Given the description of an element on the screen output the (x, y) to click on. 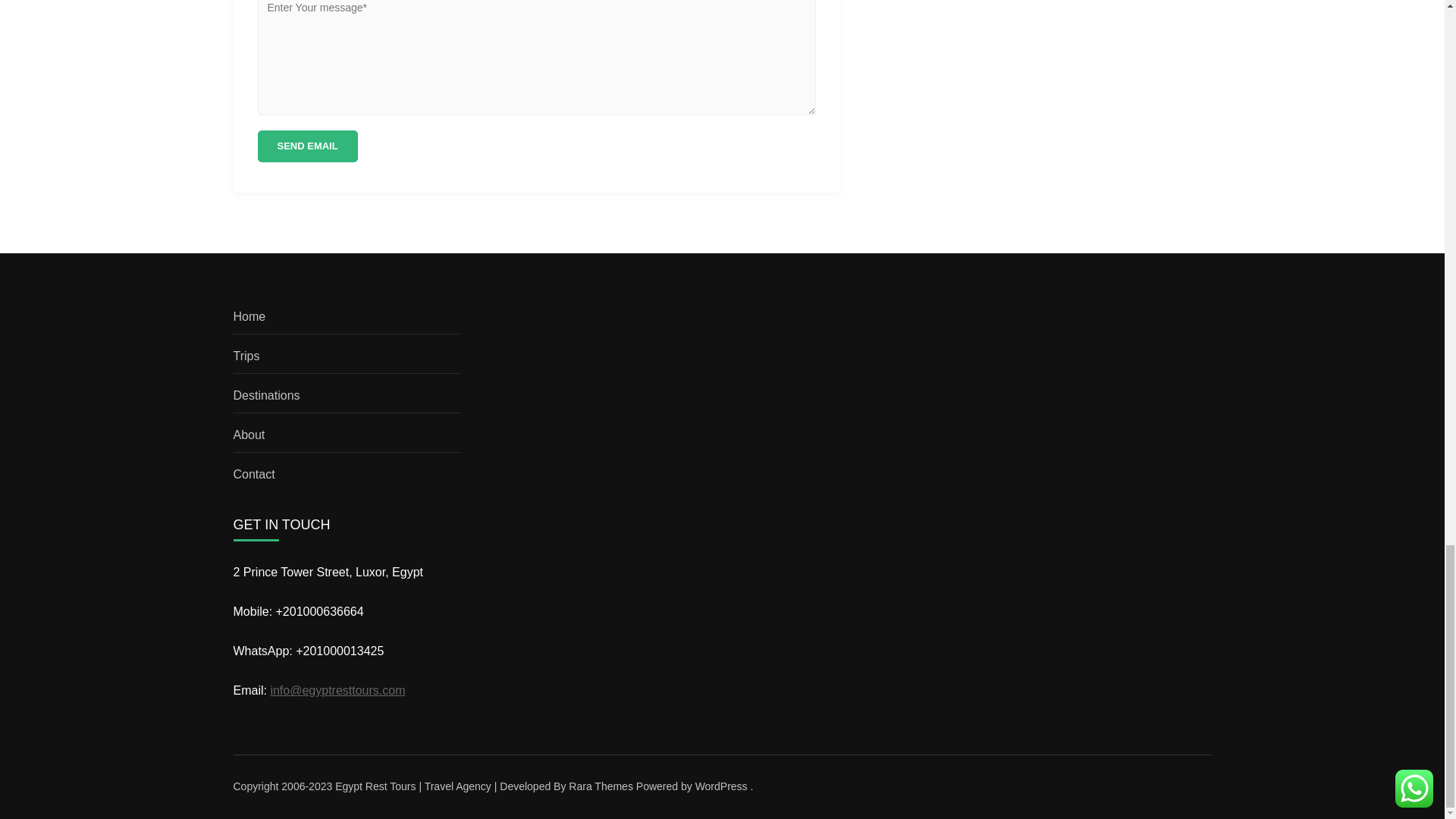
WordPress (721, 786)
Trips (246, 355)
About (248, 434)
Rara Themes (601, 786)
Destinations (265, 395)
Send Email (307, 146)
Home (249, 316)
Contact (253, 473)
Send Email (307, 146)
